Given the description of an element on the screen output the (x, y) to click on. 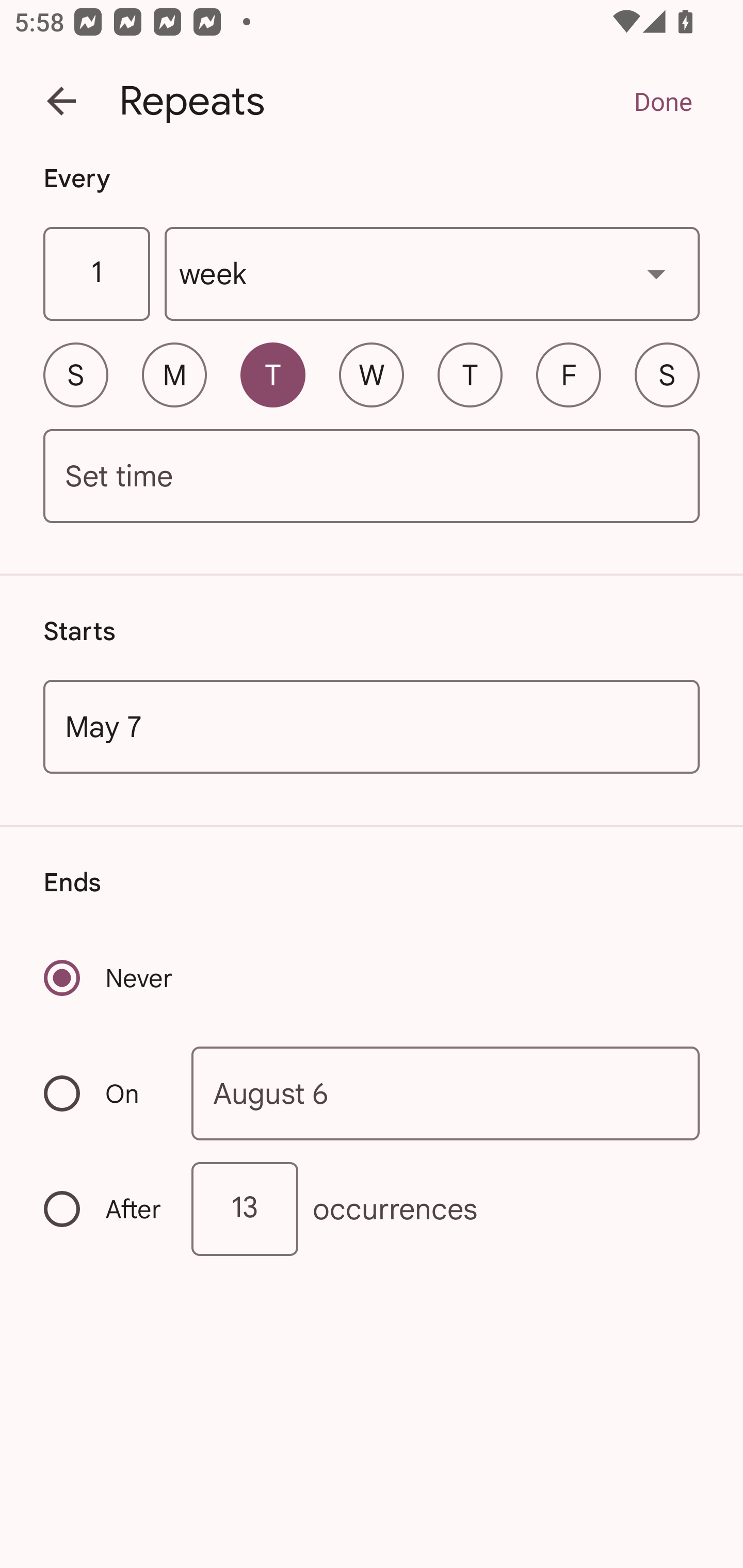
Back (61, 101)
Done (663, 101)
1 (96, 274)
week (431, 274)
Show dropdown menu (655, 273)
S Sunday (75, 374)
M Monday (173, 374)
T Tuesday, selected (272, 374)
W Wednesday (371, 374)
T Thursday (469, 374)
F Friday (568, 374)
S Saturday (666, 374)
Set time (371, 476)
May 7 (371, 726)
Never Recurrence never ends (109, 978)
August 6 (445, 1092)
On Recurrence ends on a specific date (104, 1093)
13 (244, 1208)
